Given the description of an element on the screen output the (x, y) to click on. 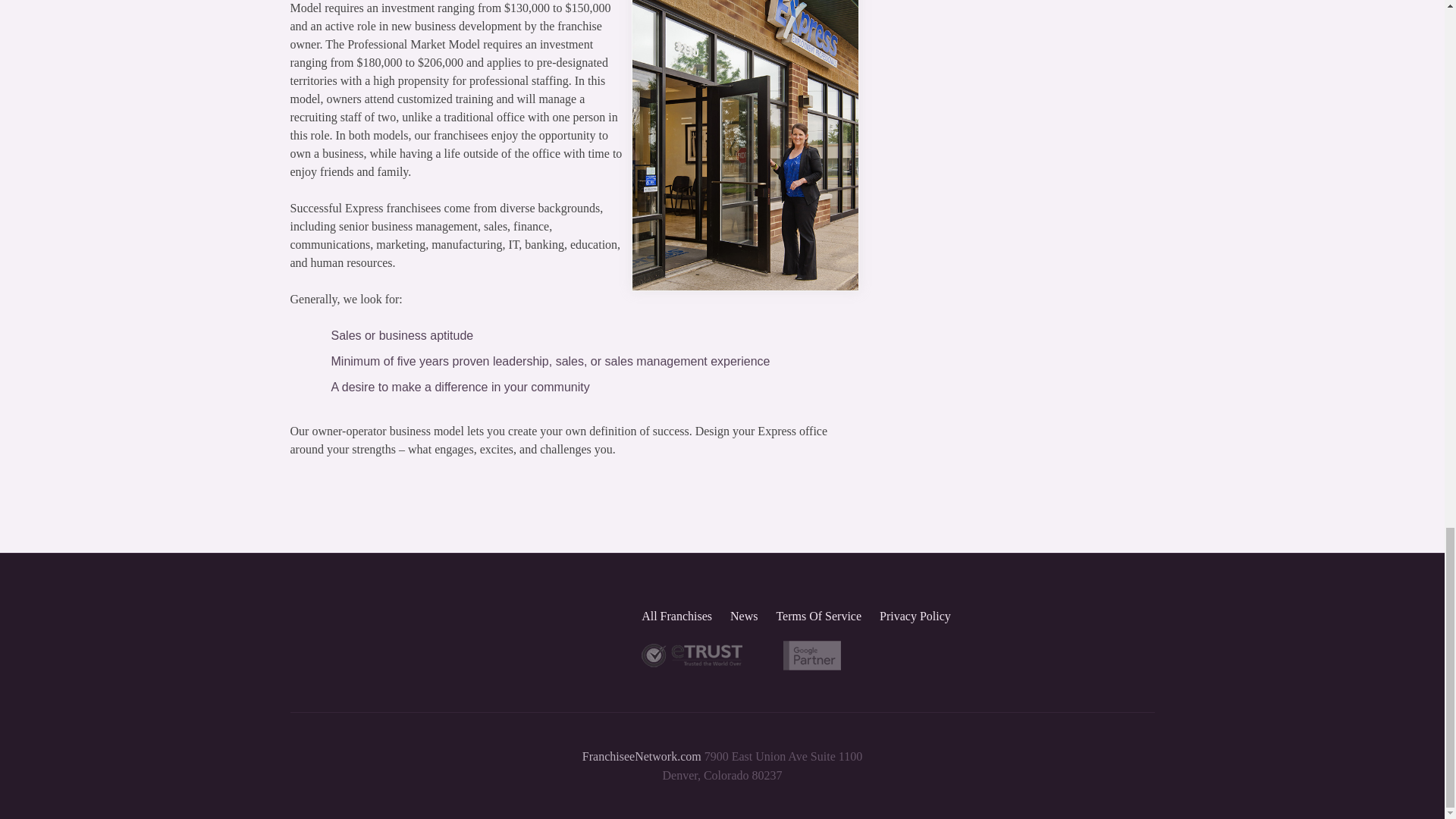
Privacy Policy (915, 615)
All Franchises (676, 615)
Terms Of Service (818, 615)
News (743, 615)
FranchiseeNetwork.com (641, 756)
